Given the description of an element on the screen output the (x, y) to click on. 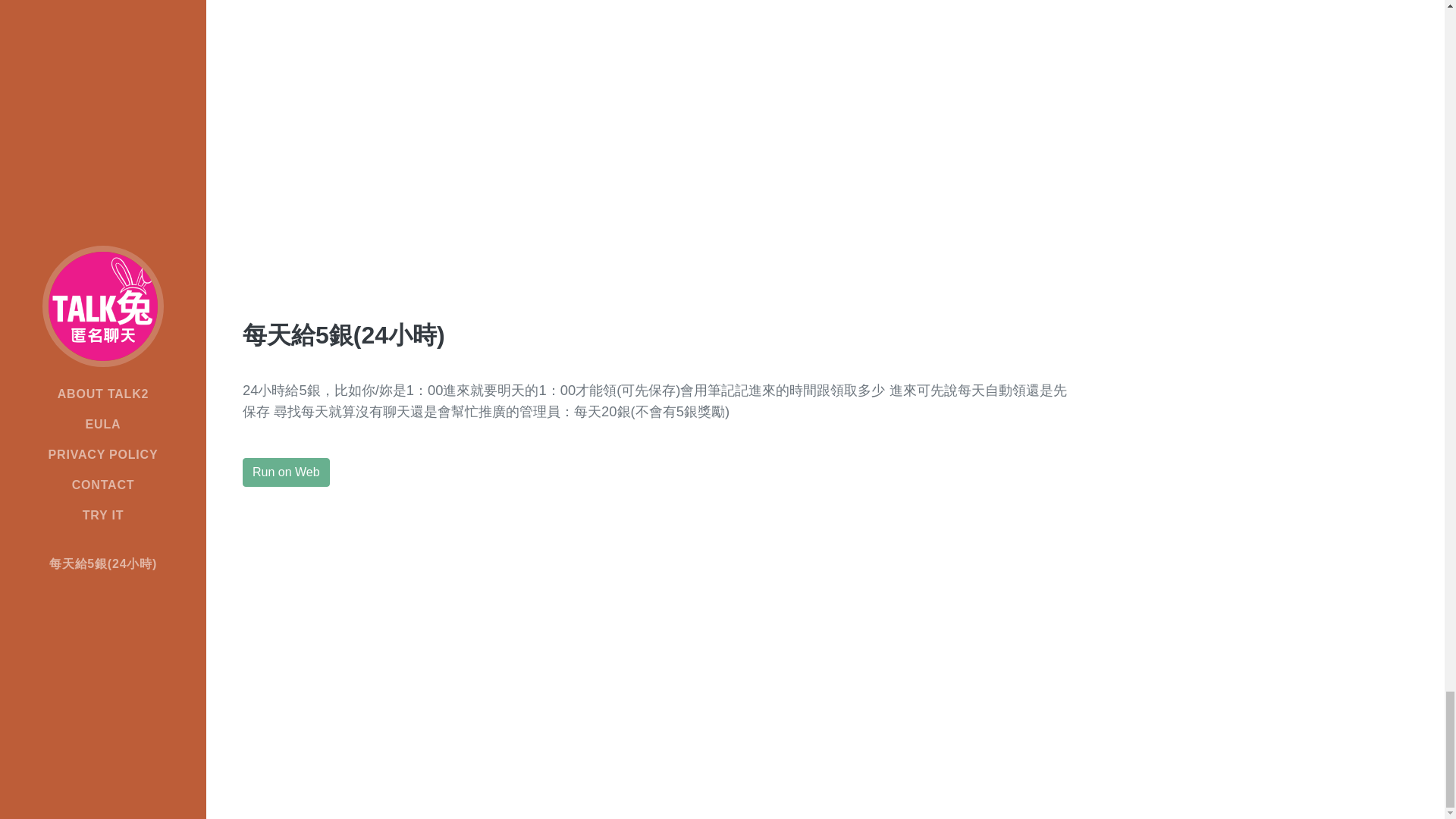
Run on Web (286, 471)
